Given the description of an element on the screen output the (x, y) to click on. 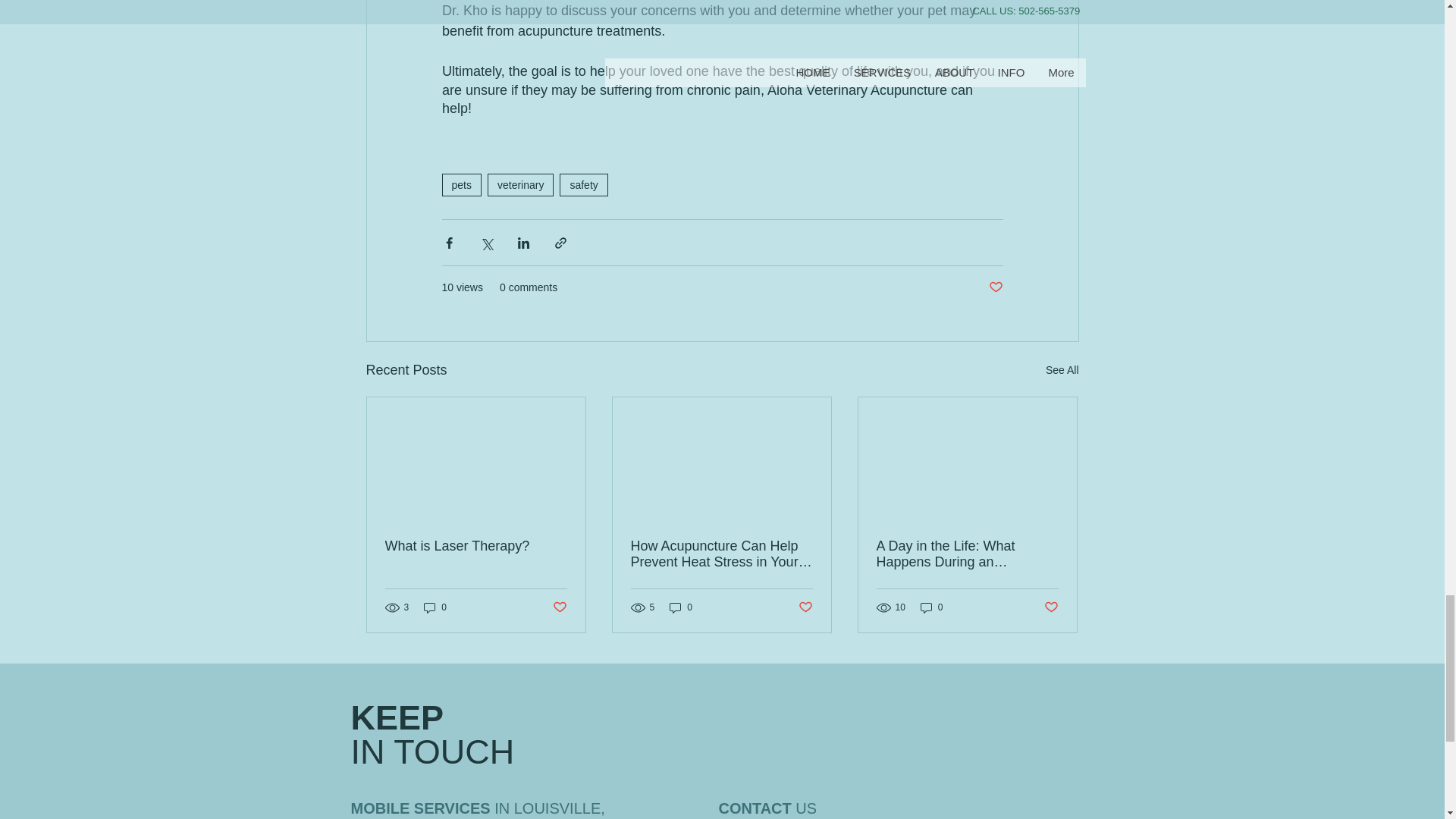
How Acupuncture Can Help Prevent Heat Stress in Your Pet (721, 554)
Post not marked as liked (995, 287)
0 (435, 607)
Post not marked as liked (558, 607)
See All (1061, 370)
Post not marked as liked (804, 607)
Post not marked as liked (1050, 607)
What is Laser Therapy? (476, 546)
safety (583, 184)
0 (931, 607)
